Given the description of an element on the screen output the (x, y) to click on. 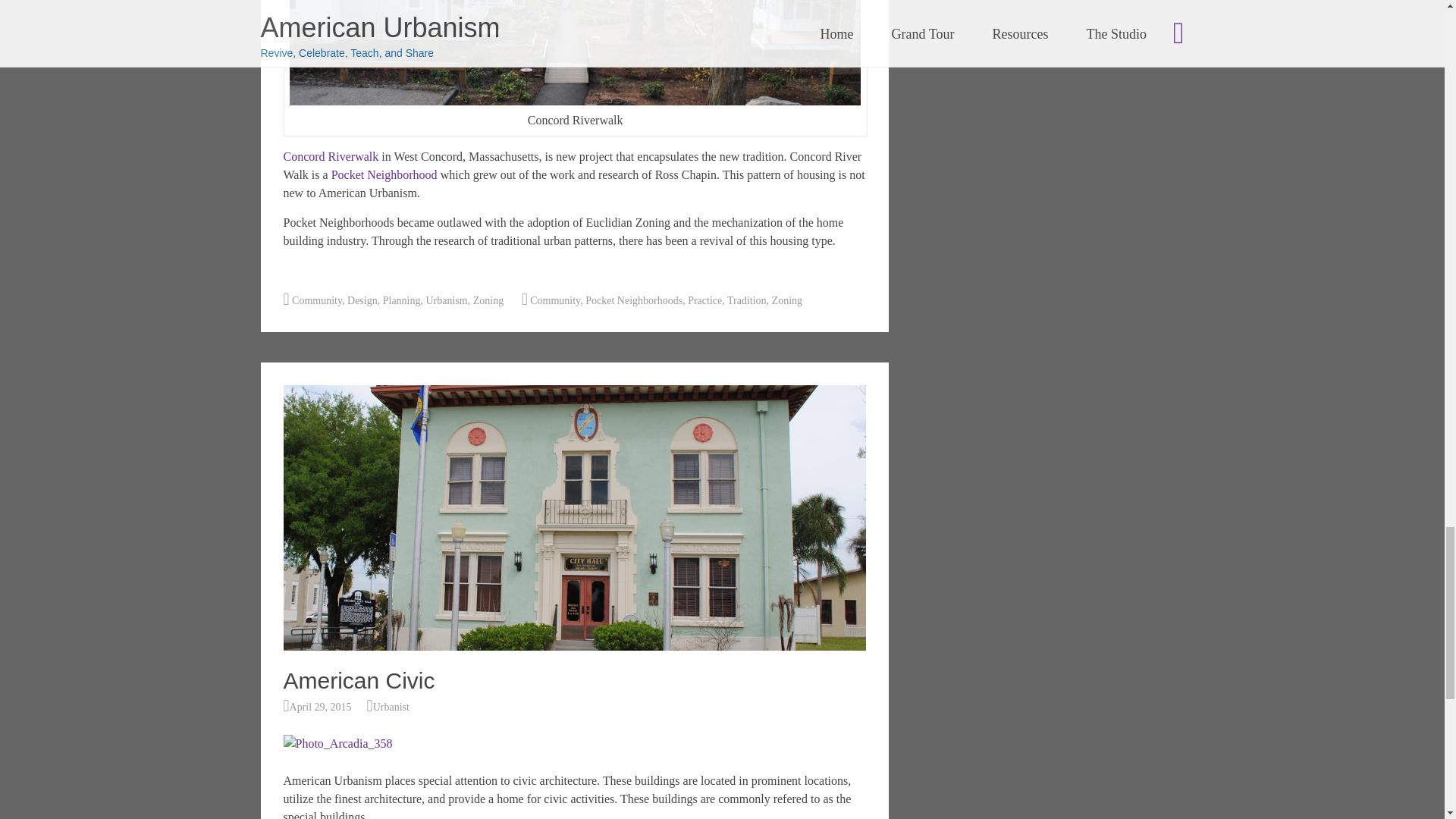
Design (362, 300)
American Civic (574, 645)
Community (317, 300)
Concord Riverwalk (332, 155)
Pocket Neighborhood (384, 174)
